Given the description of an element on the screen output the (x, y) to click on. 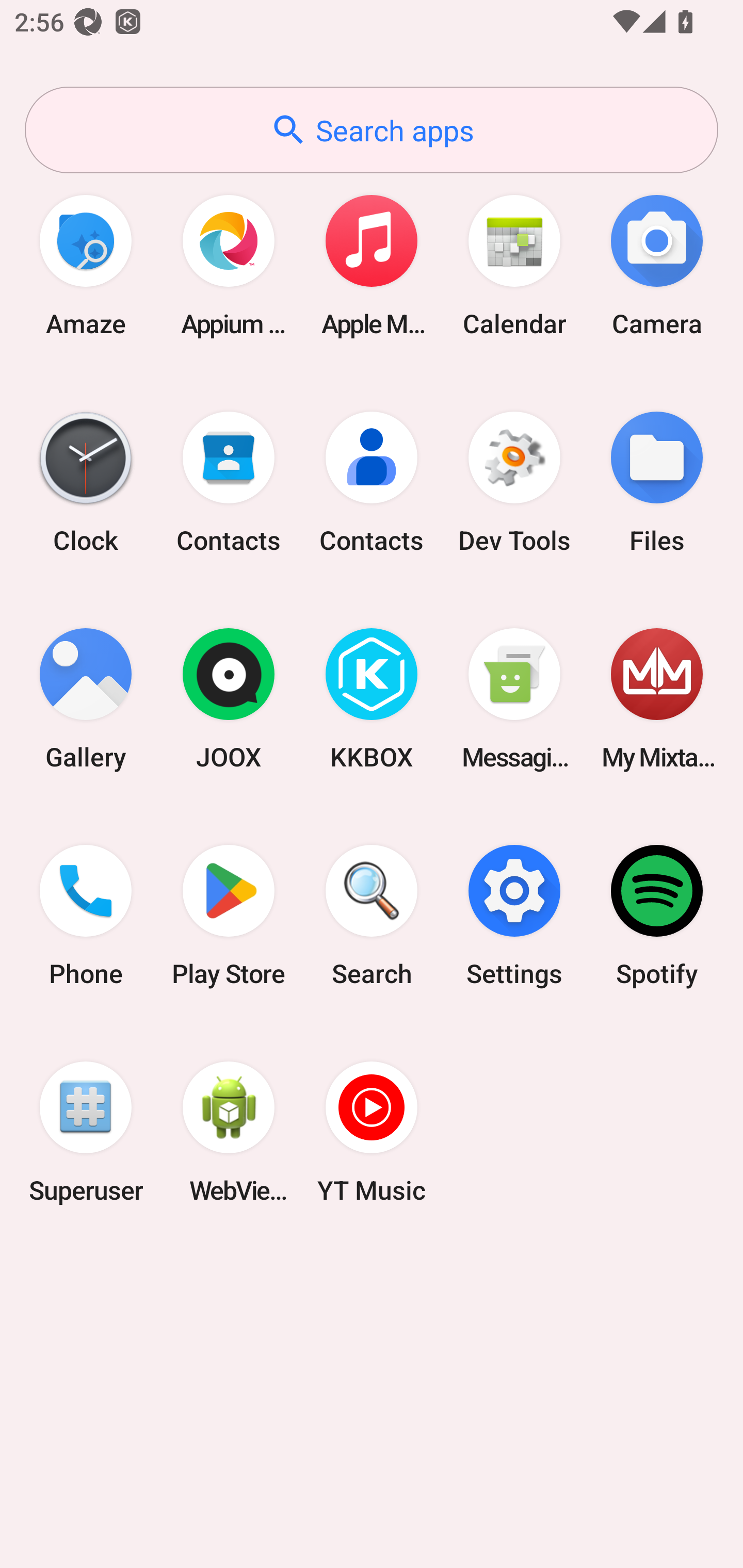
  Search apps (371, 130)
Amaze (85, 264)
Appium Settings (228, 264)
Apple Music (371, 264)
Calendar (514, 264)
Camera (656, 264)
Clock (85, 482)
Contacts (228, 482)
Contacts (371, 482)
Dev Tools (514, 482)
Files (656, 482)
Gallery (85, 699)
JOOX (228, 699)
KKBOX (371, 699)
Messaging (514, 699)
My Mixtapez (656, 699)
Phone (85, 915)
Play Store (228, 915)
Search (371, 915)
Settings (514, 915)
Spotify (656, 915)
Superuser (85, 1131)
WebView Browser Tester (228, 1131)
YT Music (371, 1131)
